Given the description of an element on the screen output the (x, y) to click on. 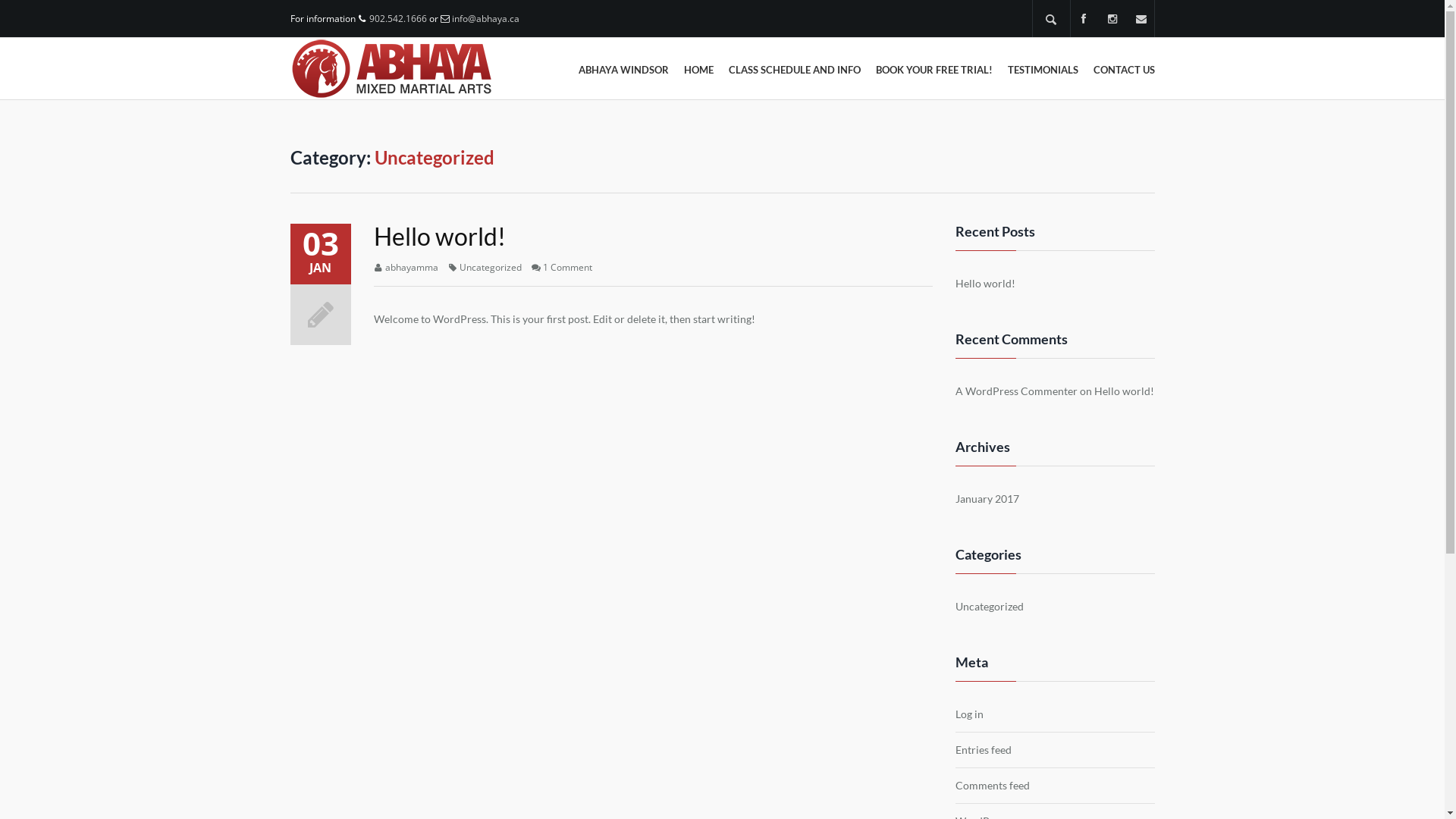
Entries feed Element type: text (983, 749)
Uncategorized Element type: text (989, 606)
abhayamma Element type: text (411, 266)
instagram Element type: hover (1112, 18)
facebook Element type: hover (1083, 18)
Abhaya Mixed Martial arts Element type: hover (390, 67)
Log in Element type: text (969, 714)
A WordPress Commenter Element type: text (1016, 390)
January 2017 Element type: text (987, 498)
Uncategorized Element type: text (490, 266)
ABHAYA WINDSOR Element type: text (622, 69)
email Element type: hover (1141, 18)
Comments feed Element type: text (992, 785)
Hello world! Element type: text (985, 283)
info@abhaya.ca Element type: text (485, 18)
Hello world! Element type: text (439, 236)
TESTIMONIALS Element type: text (1042, 69)
Hello world! Element type: text (1124, 390)
902.542.1666 Element type: text (397, 18)
HOME Element type: text (698, 69)
CLASS SCHEDULE AND INFO Element type: text (793, 69)
BOOK YOUR FREE TRIAL! Element type: text (933, 69)
1 Comment Element type: text (567, 266)
CONTACT US Element type: text (1123, 69)
